Given the description of an element on the screen output the (x, y) to click on. 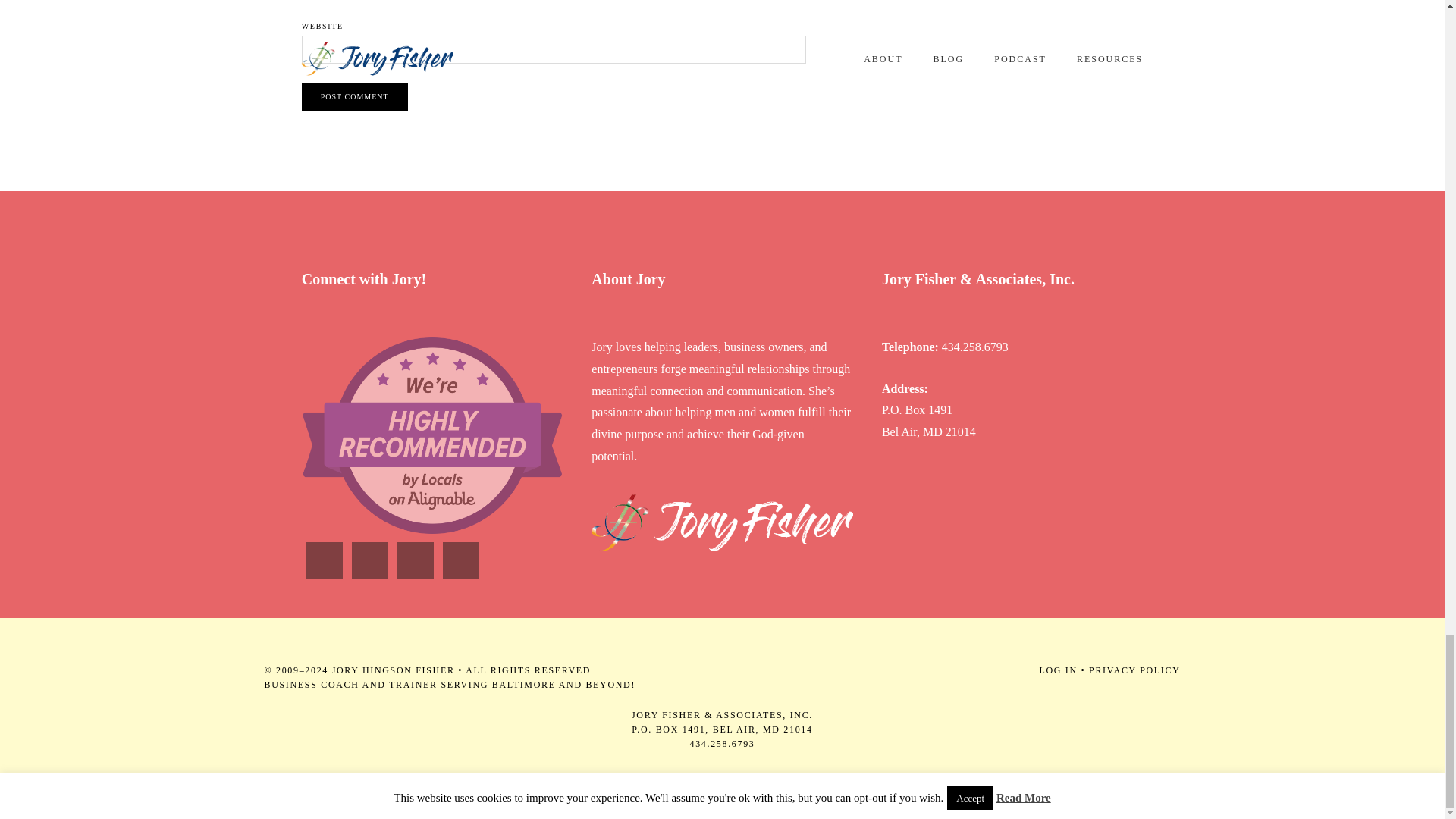
Post Comment (354, 96)
Highly Recommended by Locals On Alignable (431, 435)
